Given the description of an element on the screen output the (x, y) to click on. 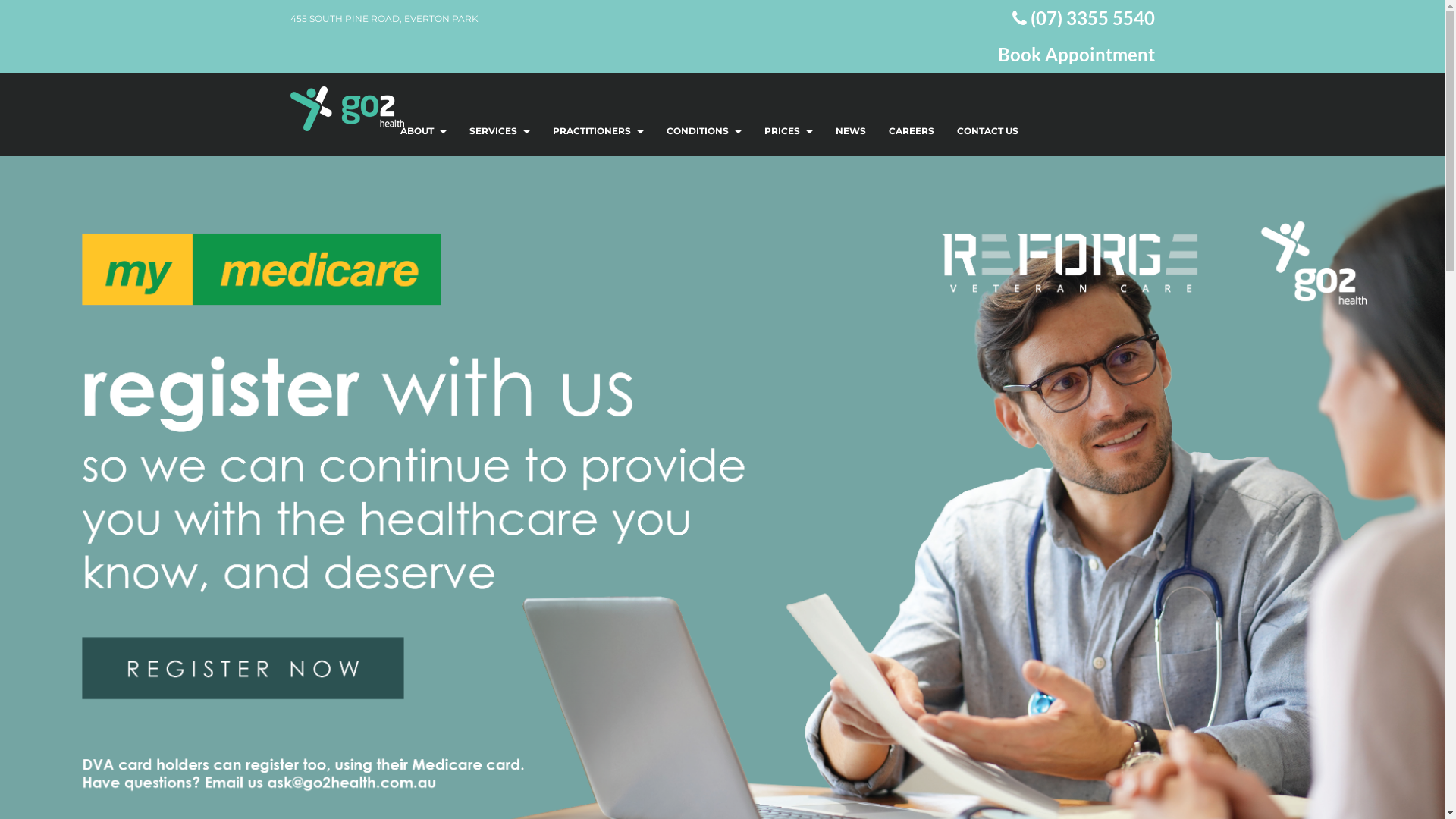
ABOUT Element type: text (422, 130)
Book Appointment Element type: text (1054, 54)
NEWS Element type: text (849, 130)
PRICES Element type: text (787, 130)
SERVICES Element type: text (499, 130)
(07) 3355 5540 Element type: text (1082, 17)
PRACTITIONERS Element type: text (598, 130)
CAREERS Element type: text (910, 130)
CONTACT US Element type: text (986, 130)
CONDITIONS Element type: text (704, 130)
